Given the description of an element on the screen output the (x, y) to click on. 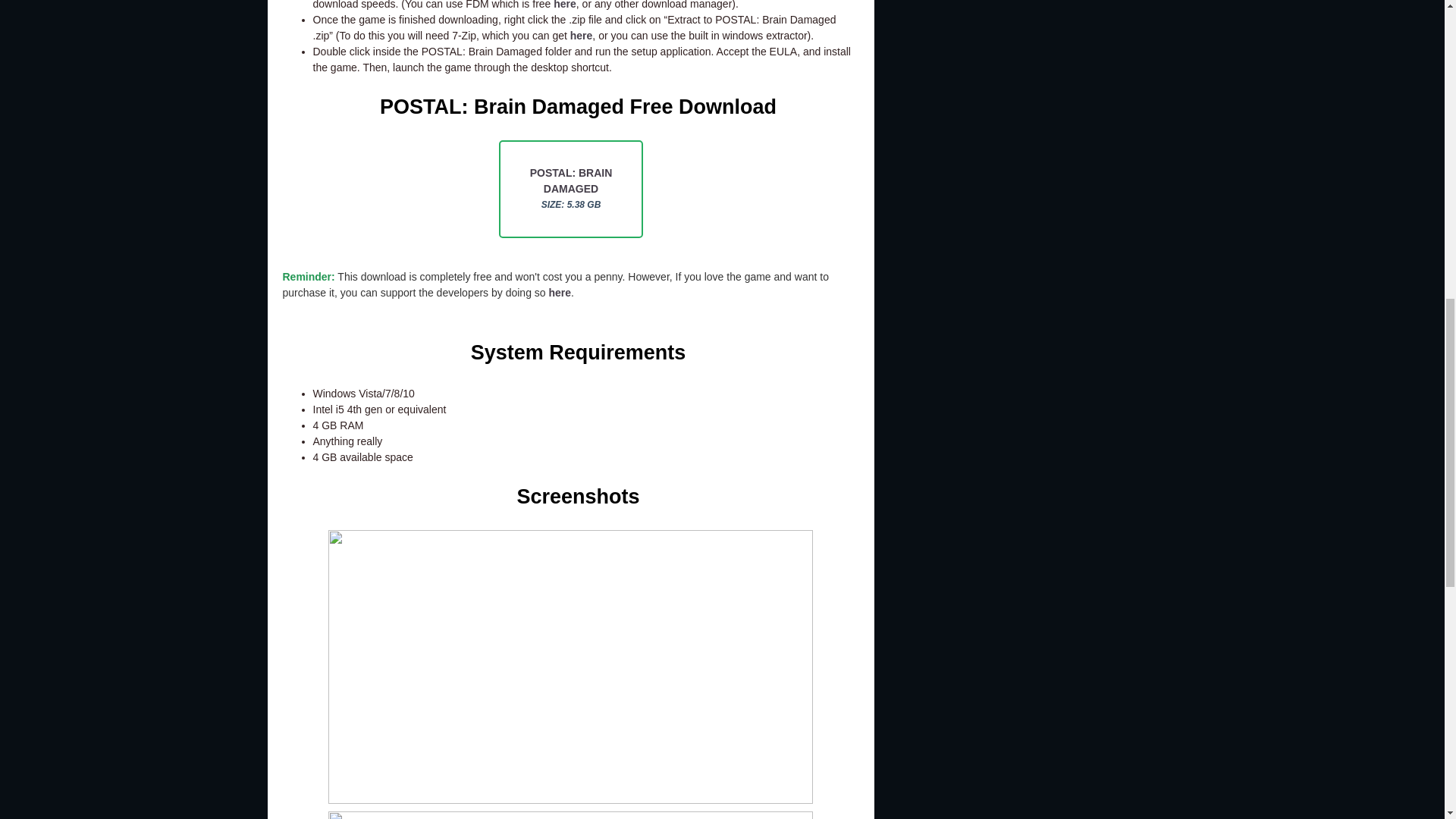
here (560, 292)
here (581, 35)
here (564, 4)
